Given the description of an element on the screen output the (x, y) to click on. 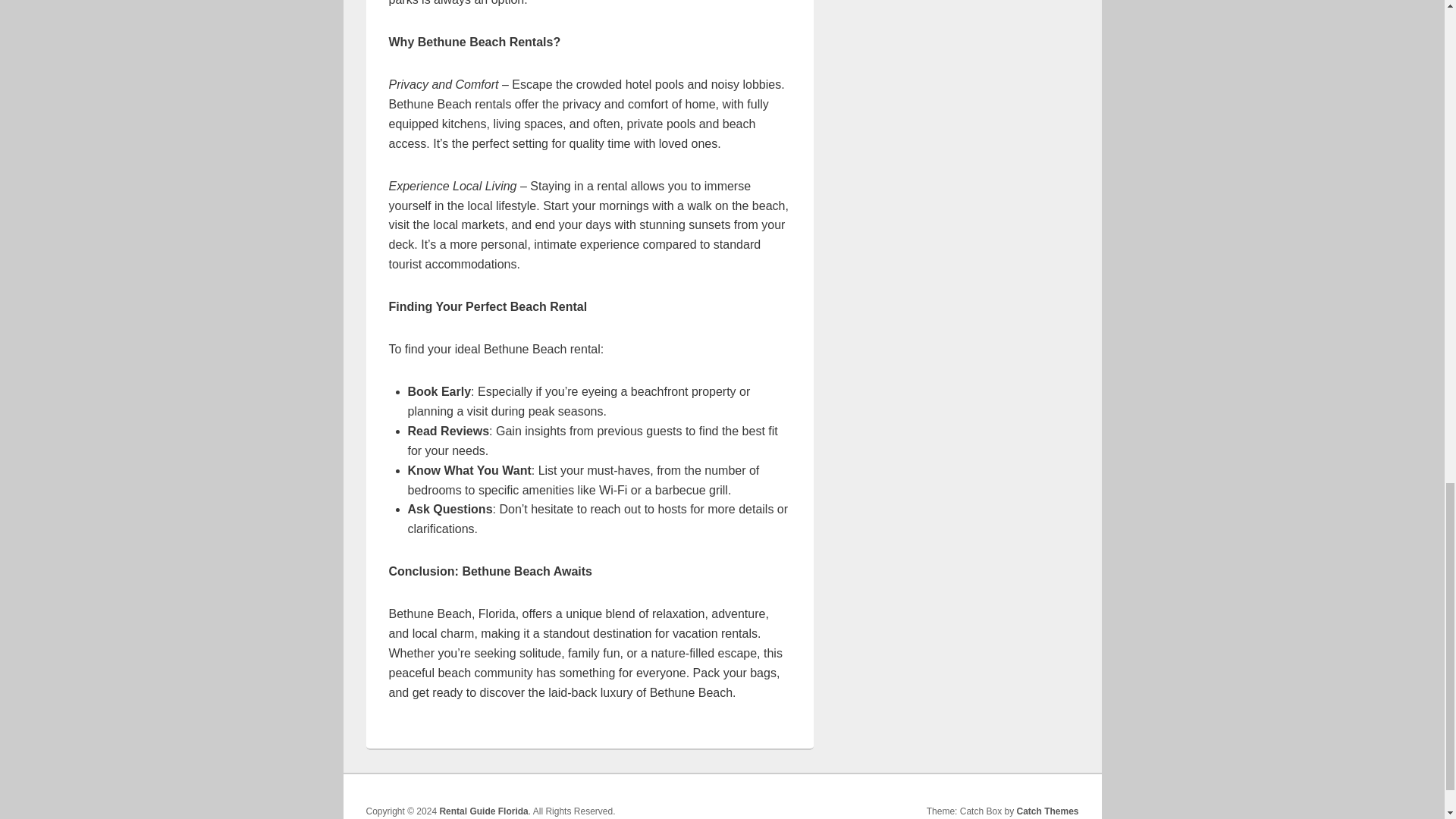
Catch Themes (1047, 810)
Rental Guide Florida (483, 810)
Rental Guide Florida (483, 810)
Catch Themes (1047, 810)
